Given the description of an element on the screen output the (x, y) to click on. 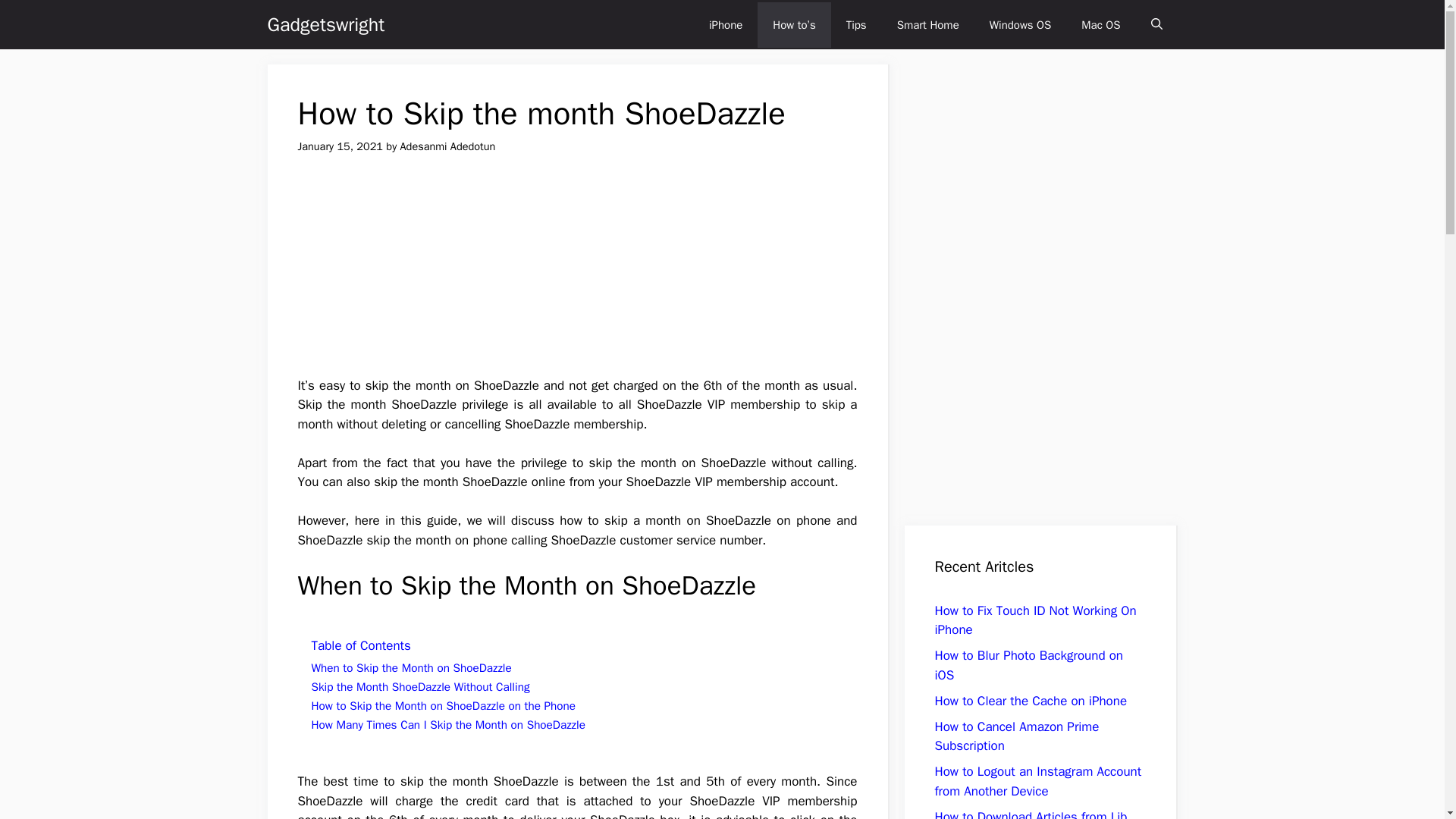
iPhone (725, 23)
Tips (856, 23)
How to Clear the Cache on iPhone (1030, 700)
How to Download Articles from Lib Gen (1030, 813)
Adesanmi Adedotun (448, 146)
Mac OS (1100, 23)
How to Logout an Instagram Account from Another Device (1037, 781)
Windows OS (1020, 23)
How to Fix Touch ID Not Working On iPhone (1034, 619)
Gadgetswright (325, 24)
View all posts by Adesanmi Adedotun (448, 146)
How Many Times Can I Skip the Month on ShoeDazzle (448, 724)
How to Blur Photo Background on iOS (1028, 665)
Skip the Month ShoeDazzle Without Calling (420, 686)
Smart Home (928, 23)
